Given the description of an element on the screen output the (x, y) to click on. 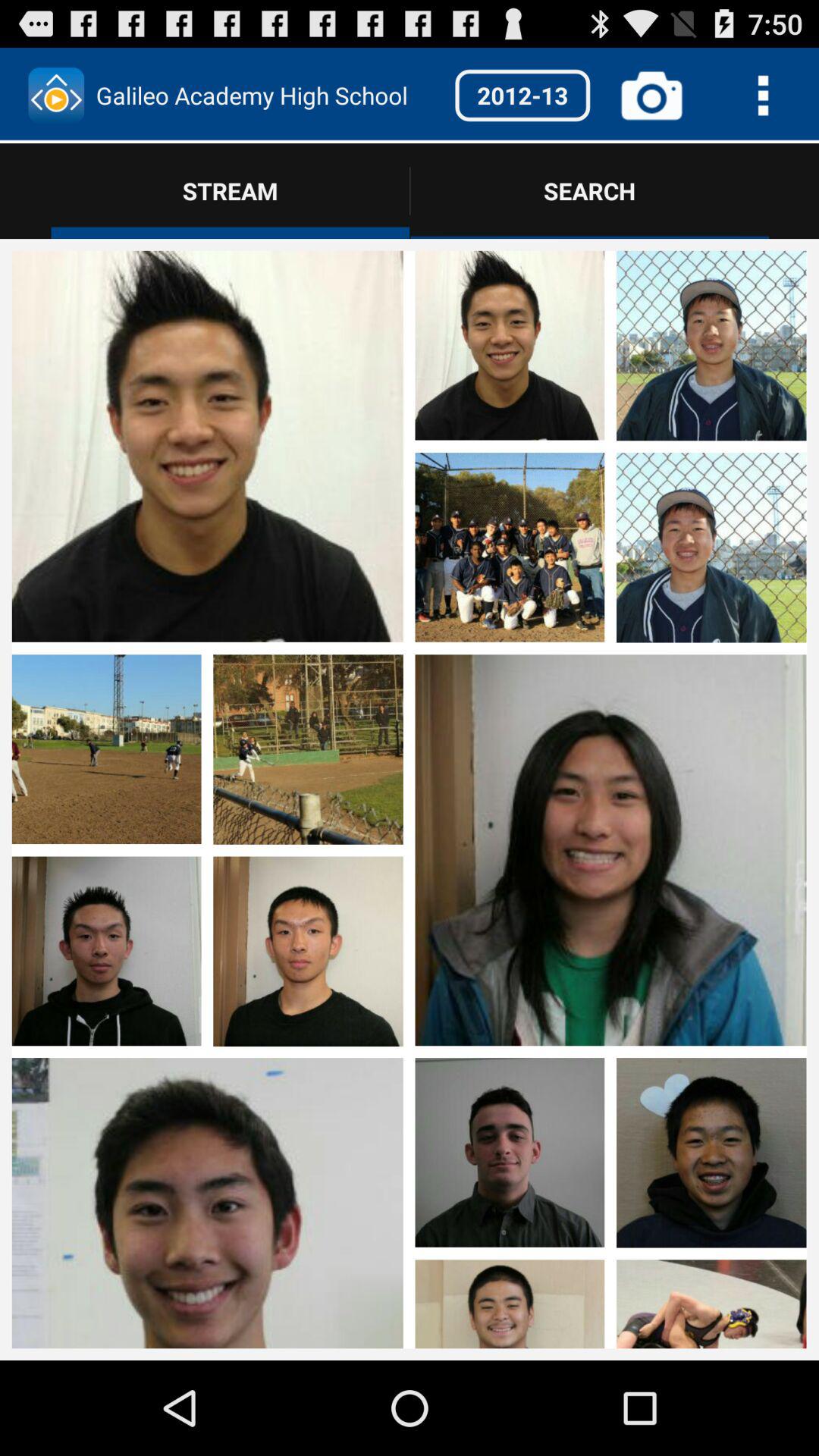
share the photos (711, 952)
